Given the description of an element on the screen output the (x, y) to click on. 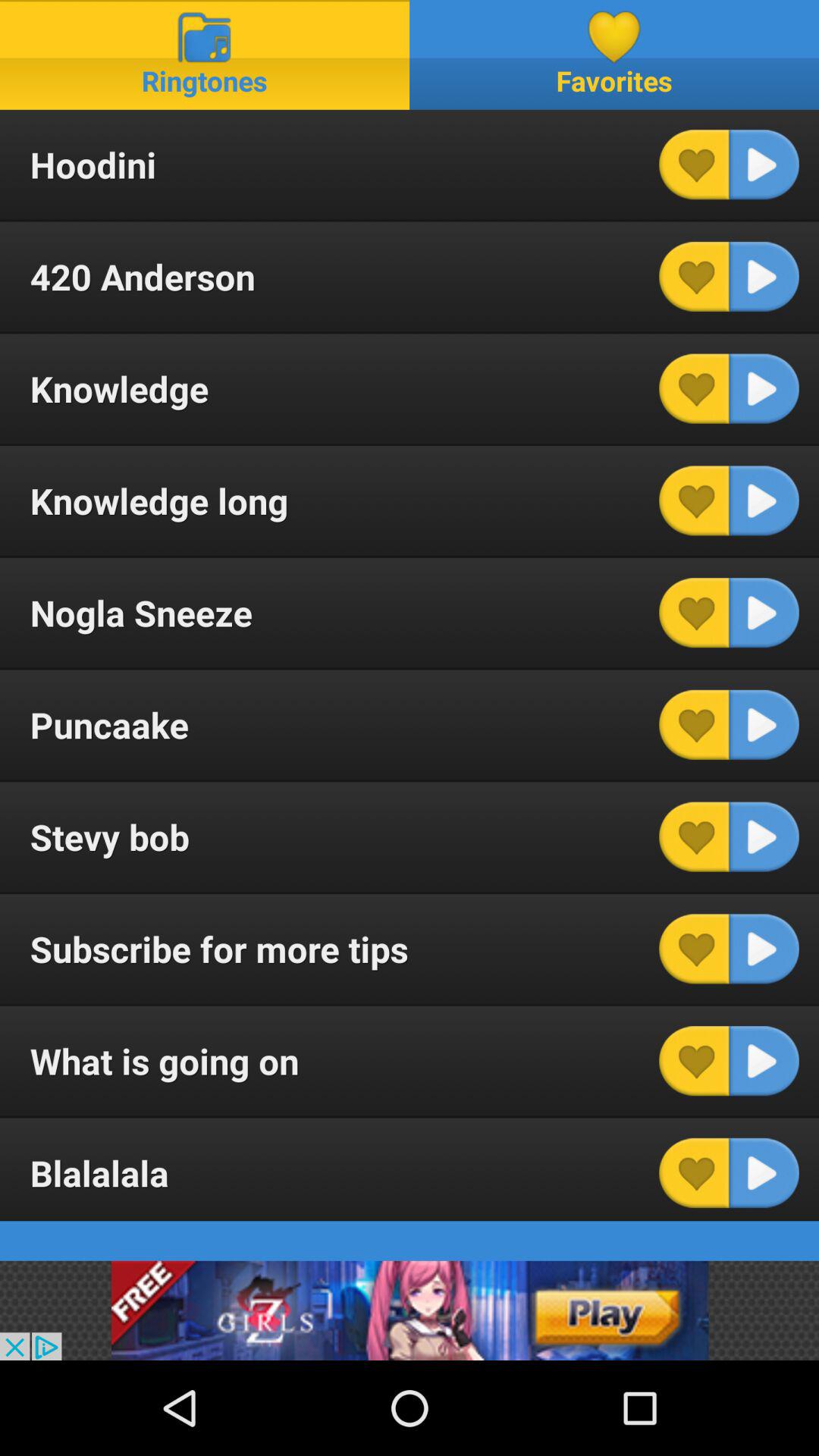
play (764, 612)
